Given the description of an element on the screen output the (x, y) to click on. 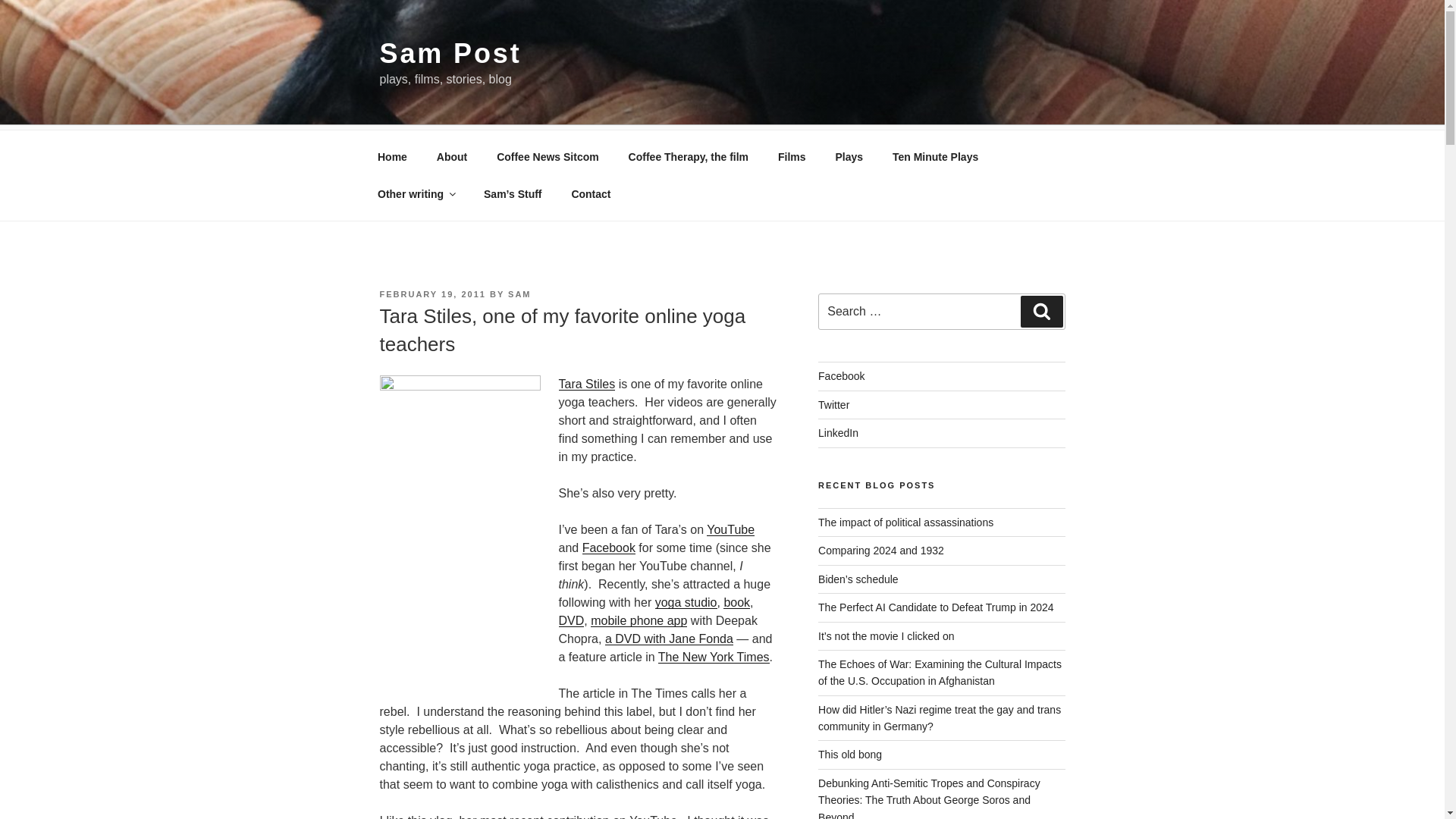
Twitter (833, 404)
SAM (519, 293)
Plays (849, 156)
Search (1041, 311)
DVD (570, 620)
Tara Stiles (585, 383)
book (736, 602)
The New York Times (714, 656)
Sam Post (449, 52)
Contact (590, 194)
